Given the description of an element on the screen output the (x, y) to click on. 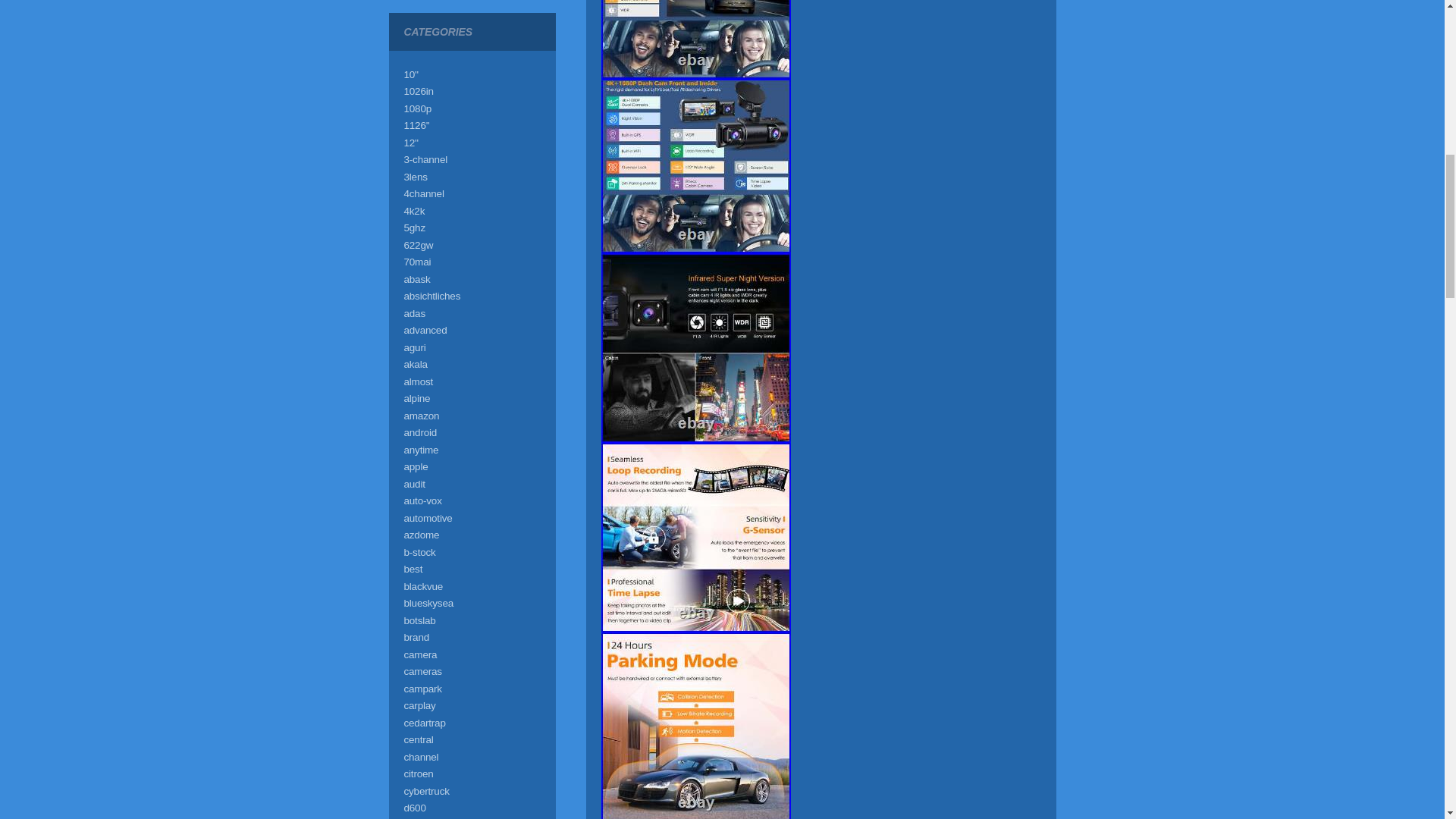
12'' (410, 142)
1080p (416, 108)
4k2k (414, 210)
absichtliches (431, 296)
70mai (416, 261)
3-channel (424, 159)
1126'' (416, 125)
aguri (414, 346)
advanced (424, 329)
4channel (423, 193)
622gw (417, 244)
abask (416, 278)
1026in (417, 91)
